Given the description of an element on the screen output the (x, y) to click on. 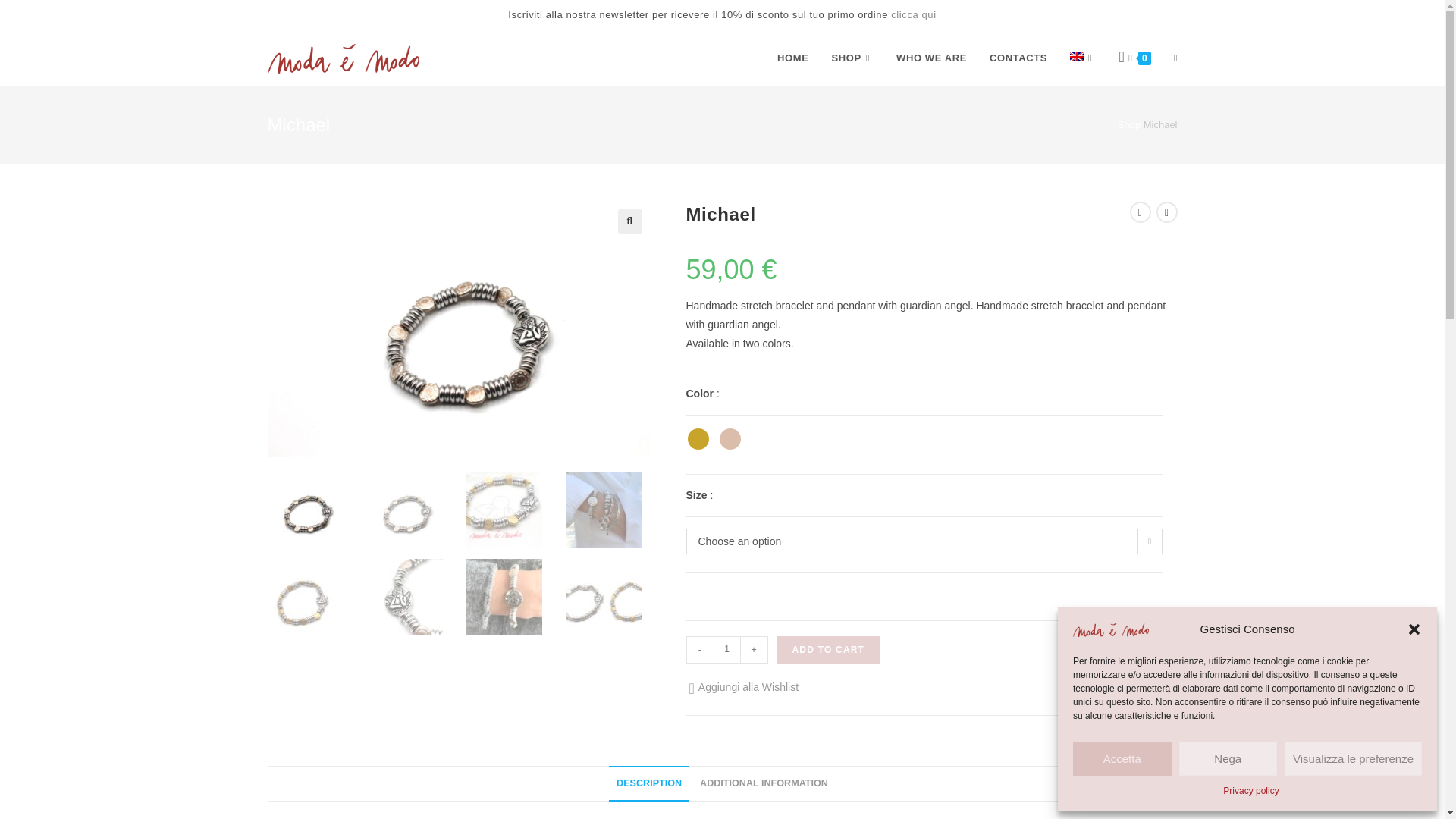
1 (726, 649)
Shop (1129, 124)
WHO WE ARE (931, 58)
Accetta (1122, 758)
Visualizza le preferenze (1353, 758)
HOME (792, 58)
Privacy policy (1250, 791)
CONTACTS (1018, 58)
Qty (726, 649)
Nega (1226, 758)
SHOP (852, 58)
clicca qui (913, 14)
